Given the description of an element on the screen output the (x, y) to click on. 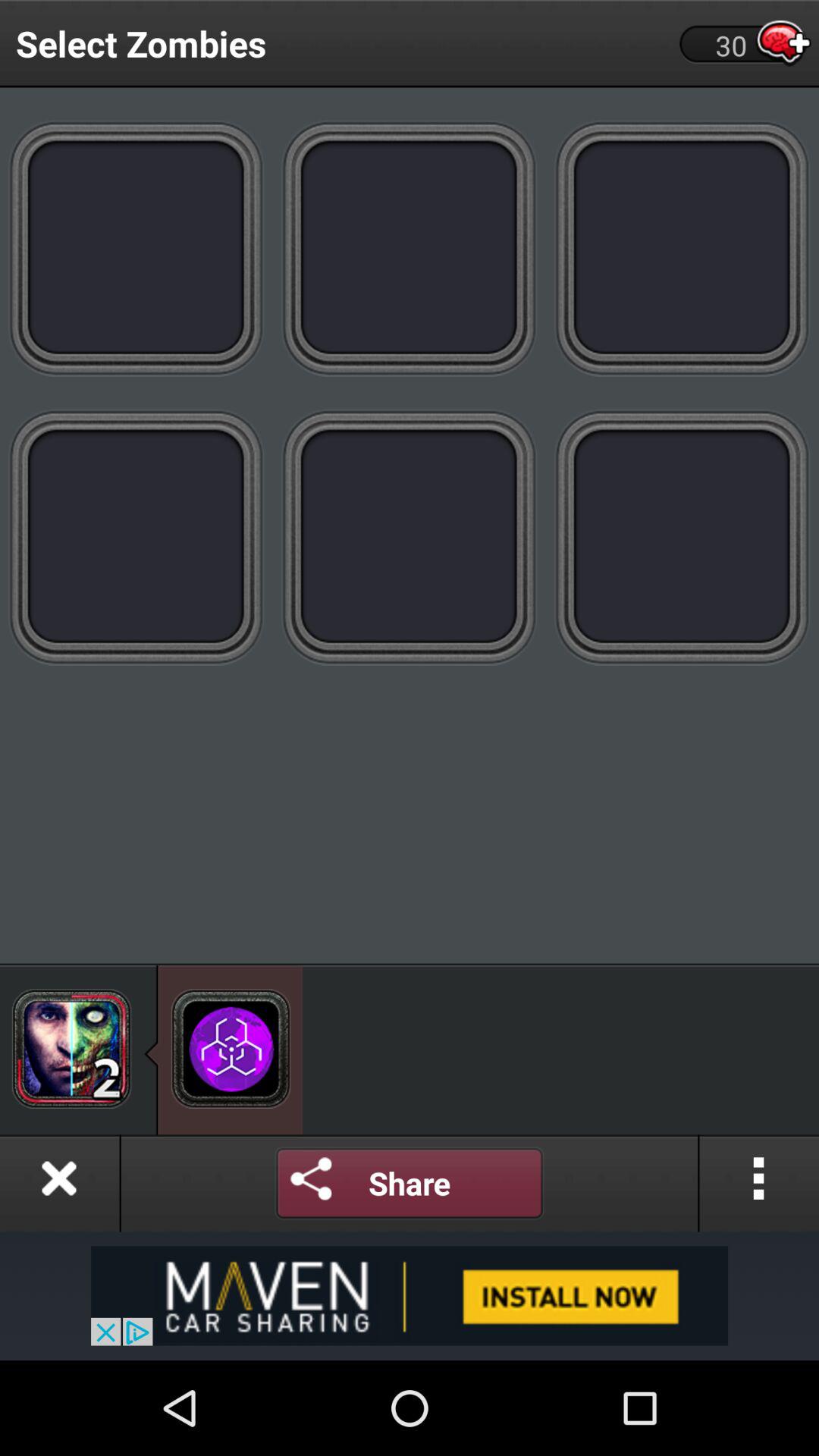
slot 2 (409, 247)
